Given the description of an element on the screen output the (x, y) to click on. 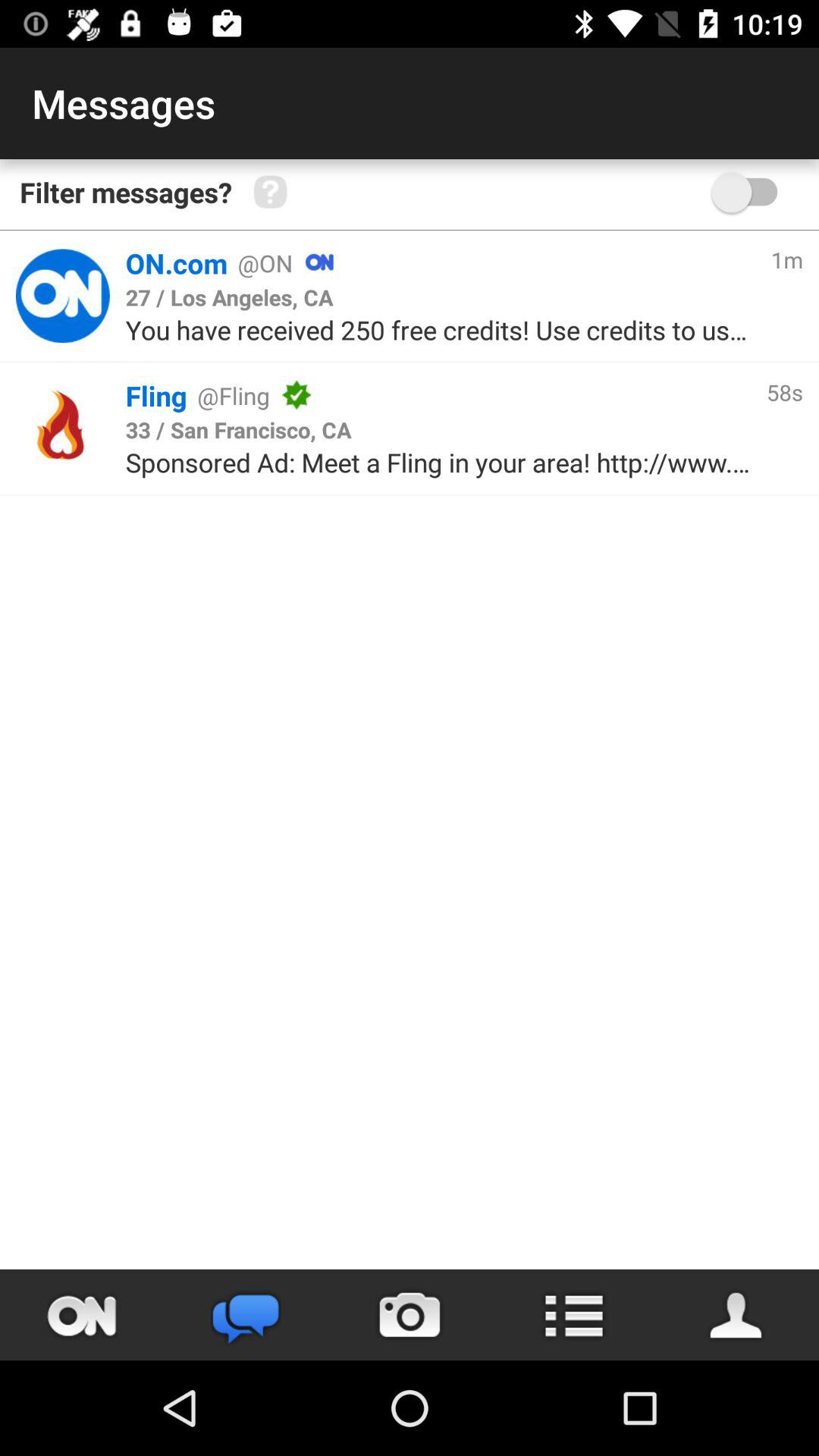
go to website (62, 295)
